Given the description of an element on the screen output the (x, y) to click on. 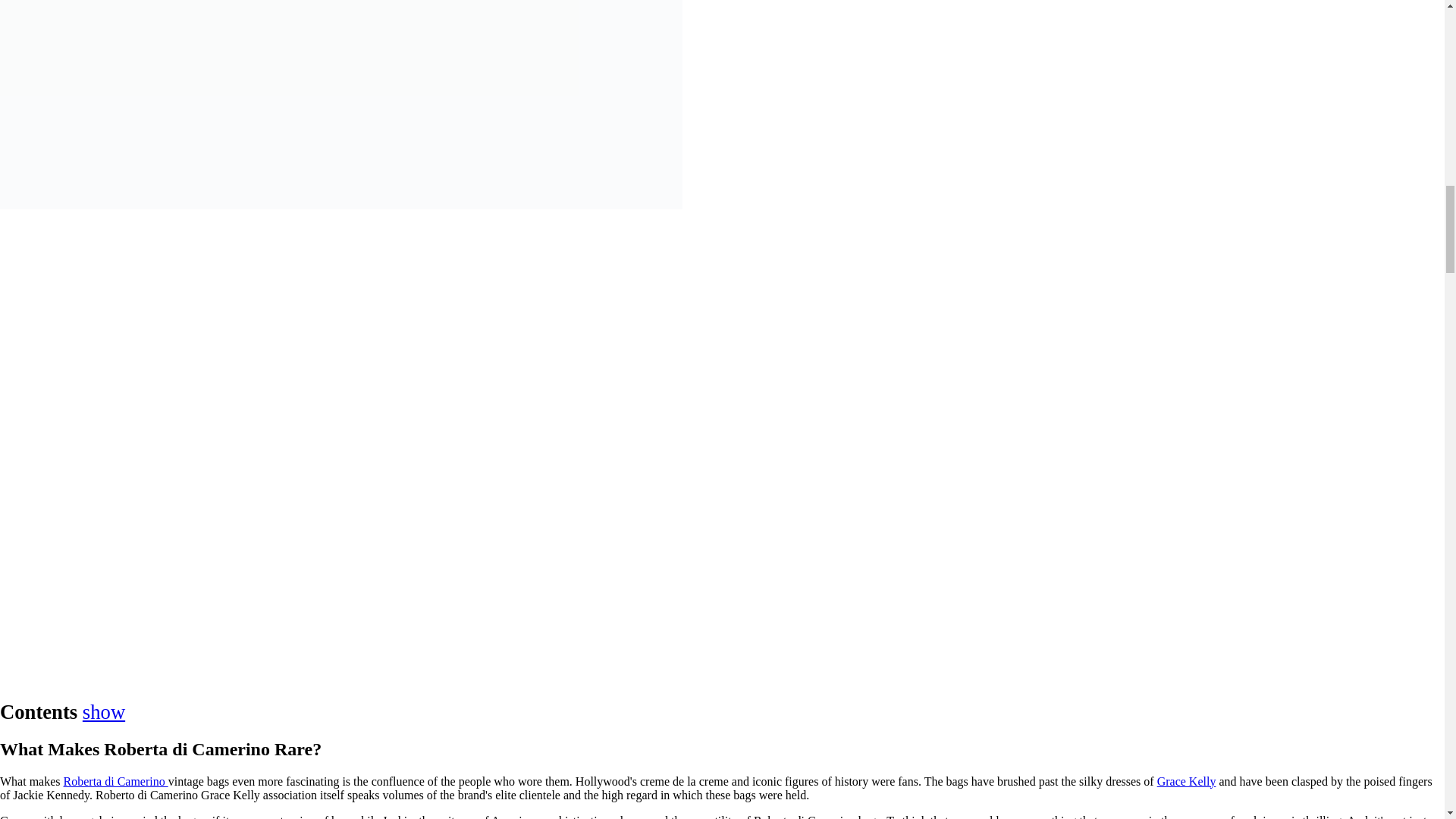
show (103, 712)
Roberta di Camerino (116, 780)
Grace Kelly (1186, 780)
Posts tagged with Grace Kelly (1186, 780)
